Given the description of an element on the screen output the (x, y) to click on. 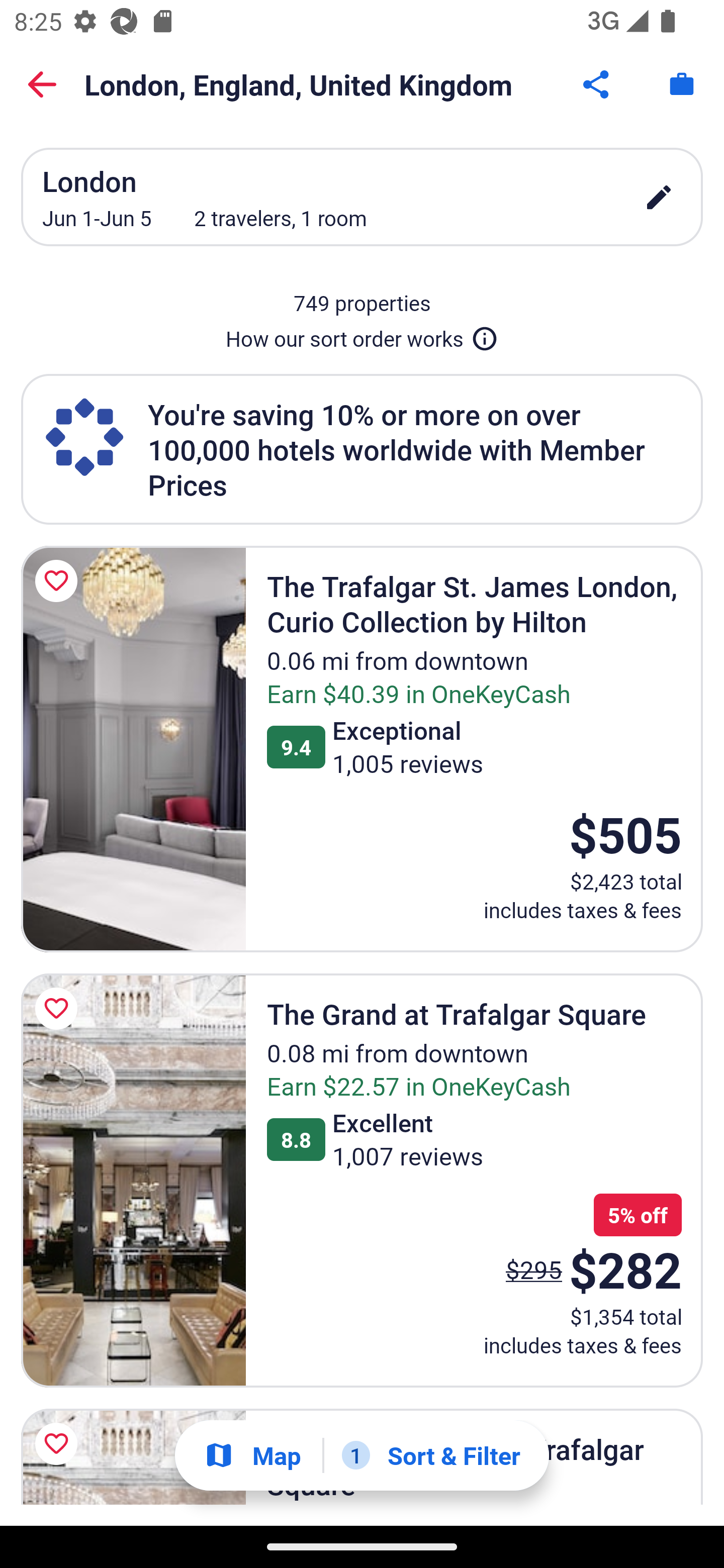
Back (42, 84)
Share Button (597, 84)
Trips. Button (681, 84)
London Jun 1-Jun 5 2 travelers, 1 room edit (361, 196)
How our sort order works (361, 334)
Save The Grand at Trafalgar Square to a trip (59, 1007)
The Grand at Trafalgar Square (133, 1180)
$295 The price was $295 (533, 1269)
Club Quarters Hotel, Trafalgar Square (133, 1456)
1 Sort & Filter 1 Filter applied. Filters Button (430, 1455)
Show map Map Show map Button (252, 1455)
